Given the description of an element on the screen output the (x, y) to click on. 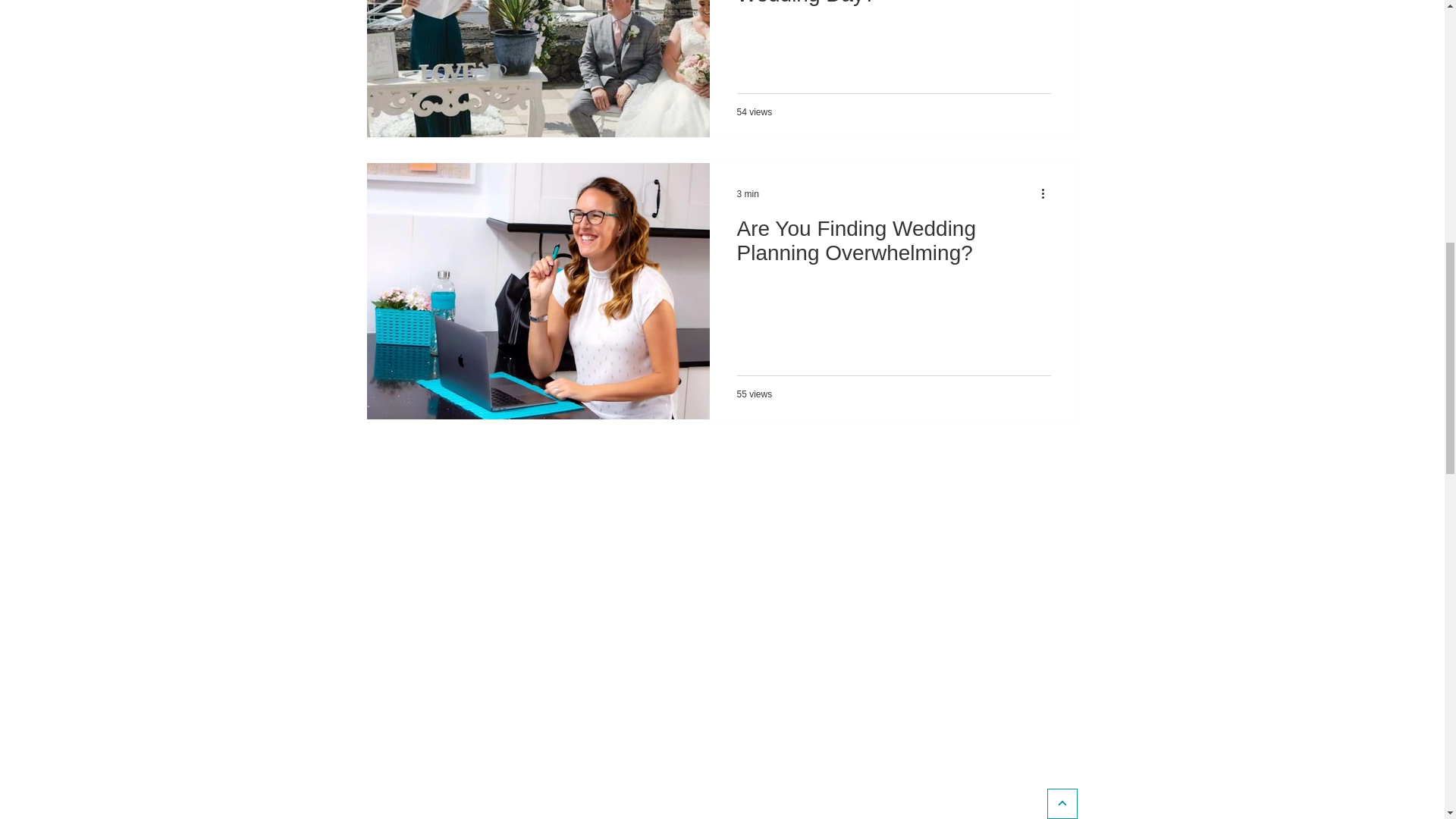
Are You Finding Wedding Planning Overwhelming? (893, 244)
3 min (747, 193)
